Given the description of an element on the screen output the (x, y) to click on. 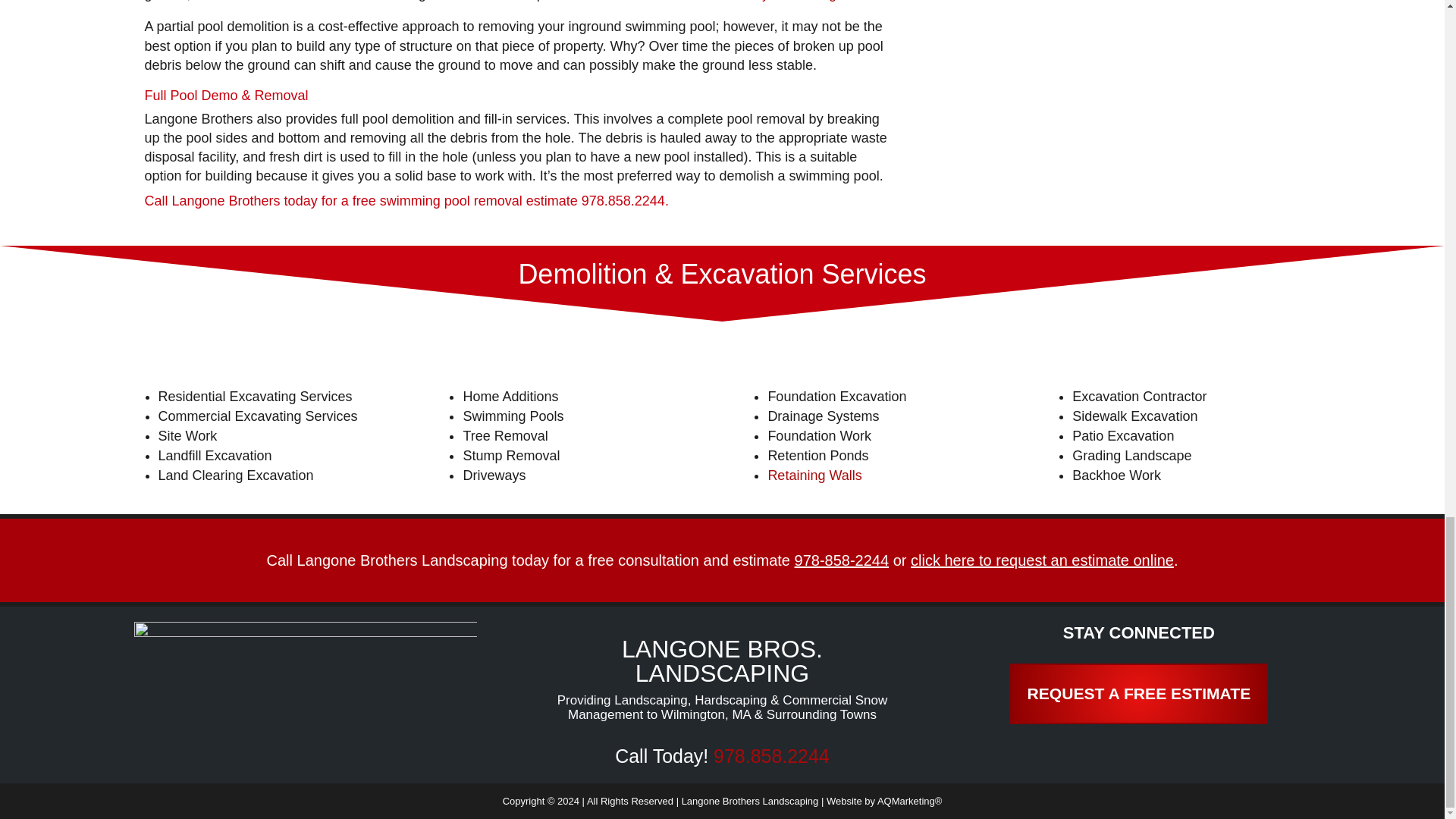
Hydroseeding (794, 0)
Retaining Walls (814, 475)
Lawn Installations (672, 0)
